Given the description of an element on the screen output the (x, y) to click on. 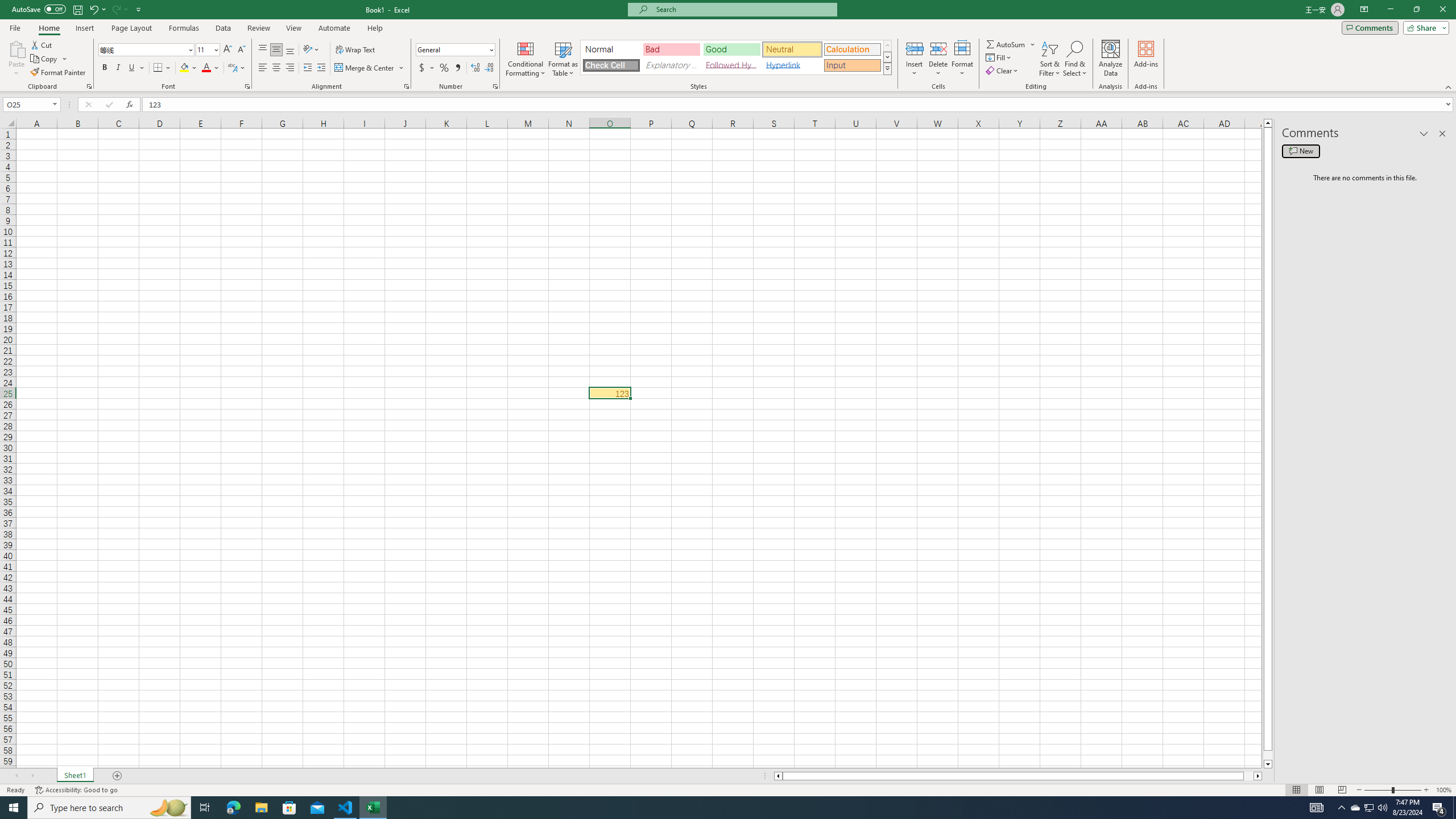
Hyperlink (791, 65)
Format Painter (58, 72)
Align Left (262, 67)
Increase Decimal (474, 67)
Accessibility Checker Accessibility: Good to go (76, 790)
Orientation (311, 49)
Align Right (290, 67)
Increase Indent (320, 67)
Comments (1369, 27)
Zoom Out (1377, 790)
Format Cell Font (247, 85)
Page right (1248, 775)
Fill (999, 56)
Name Box (27, 104)
Bold (104, 67)
